Given the description of an element on the screen output the (x, y) to click on. 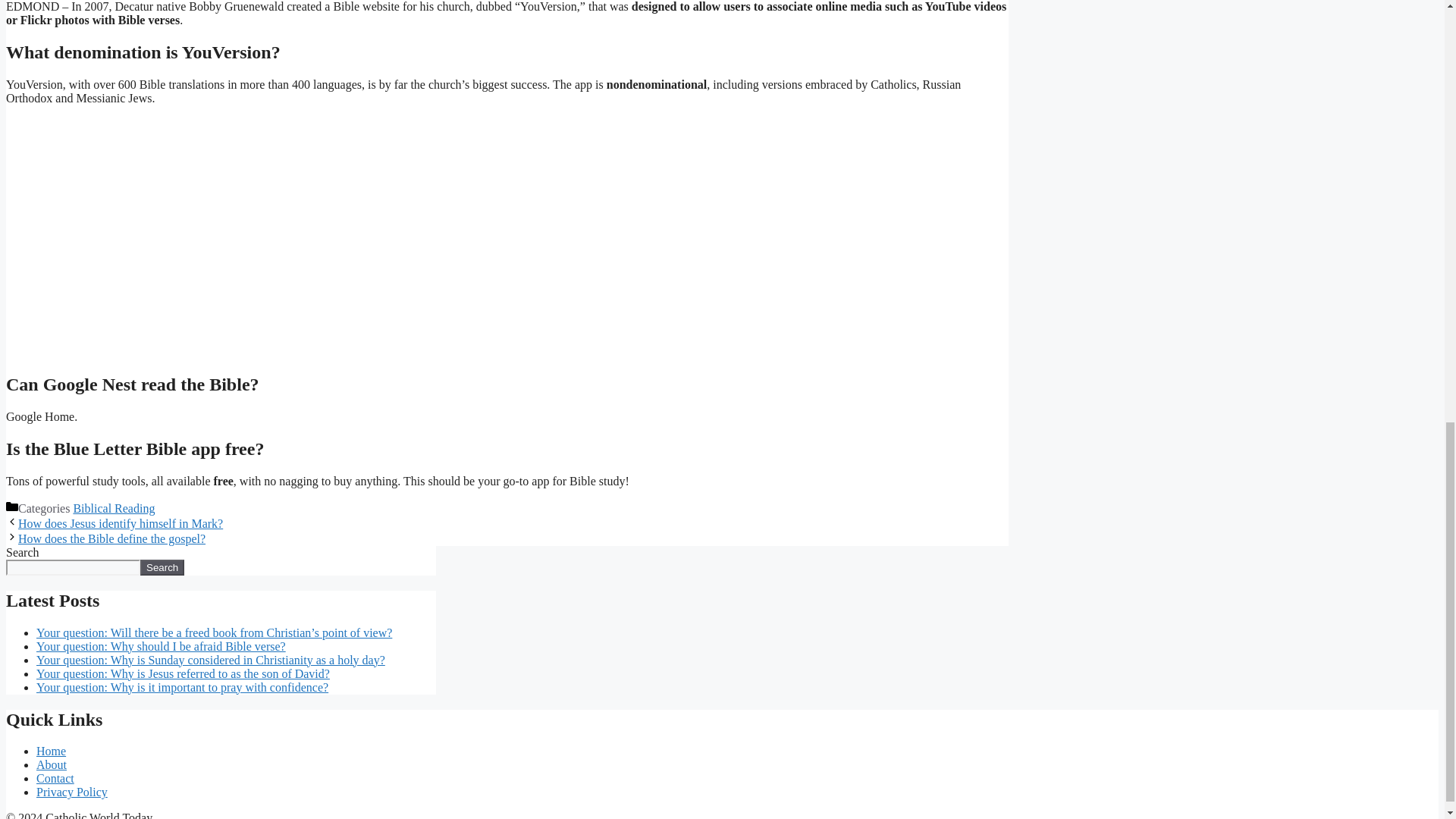
Contact (55, 778)
Search (161, 567)
How does Jesus identify himself in Mark? (119, 522)
Home (50, 750)
Scroll back to top (1406, 649)
Your question: Why is it important to pray with confidence? (182, 686)
How does the Bible define the gospel? (111, 538)
About (51, 764)
Privacy Policy (71, 791)
Your question: Why is Jesus referred to as the son of David? (183, 673)
Your question: Why should I be afraid Bible verse? (160, 645)
Biblical Reading (113, 508)
